Given the description of an element on the screen output the (x, y) to click on. 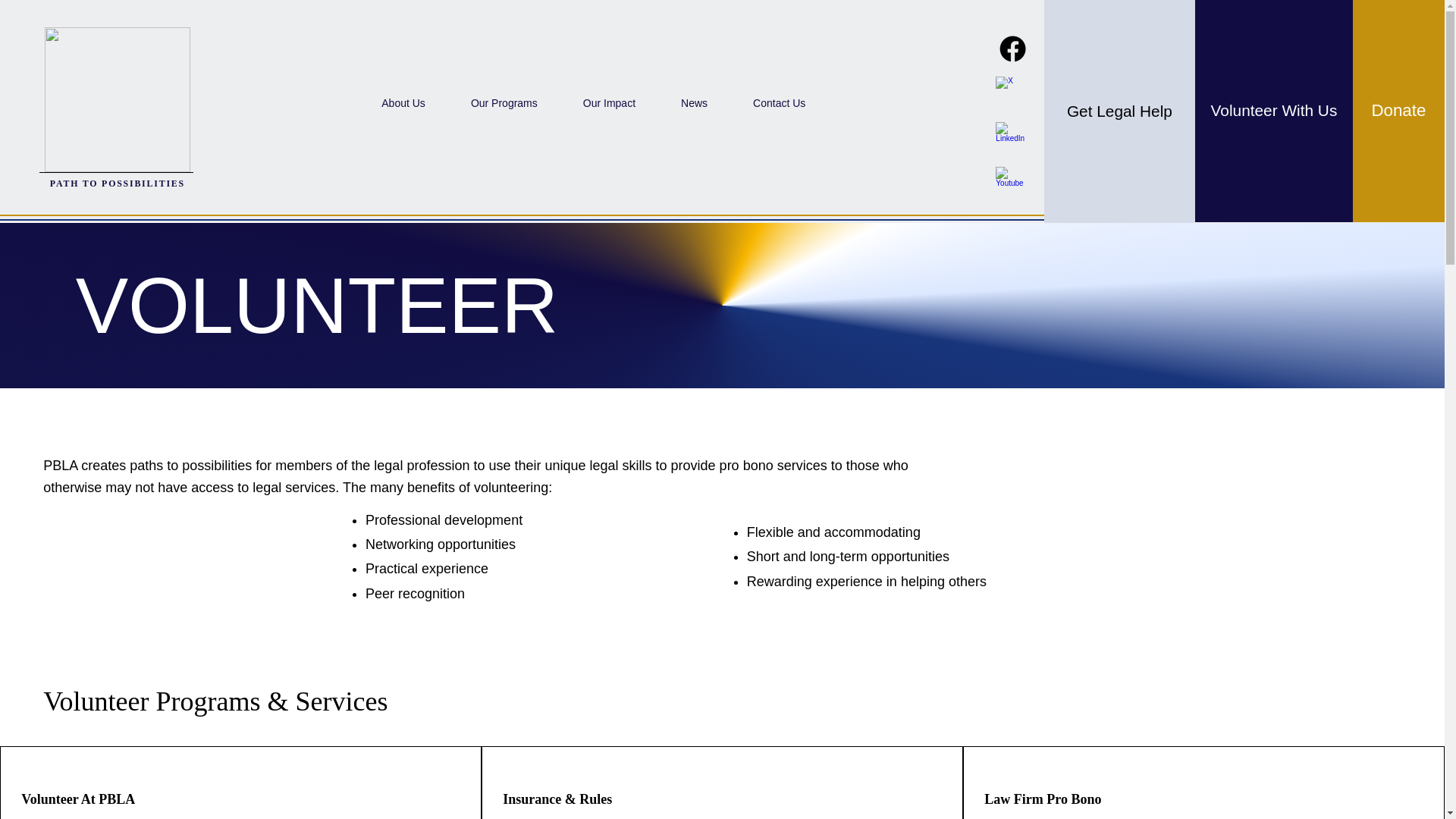
PATH TO POSSIBILITIES (116, 183)
Our Programs (503, 103)
News (693, 103)
Contact Us (778, 103)
About Us (403, 103)
